Given the description of an element on the screen output the (x, y) to click on. 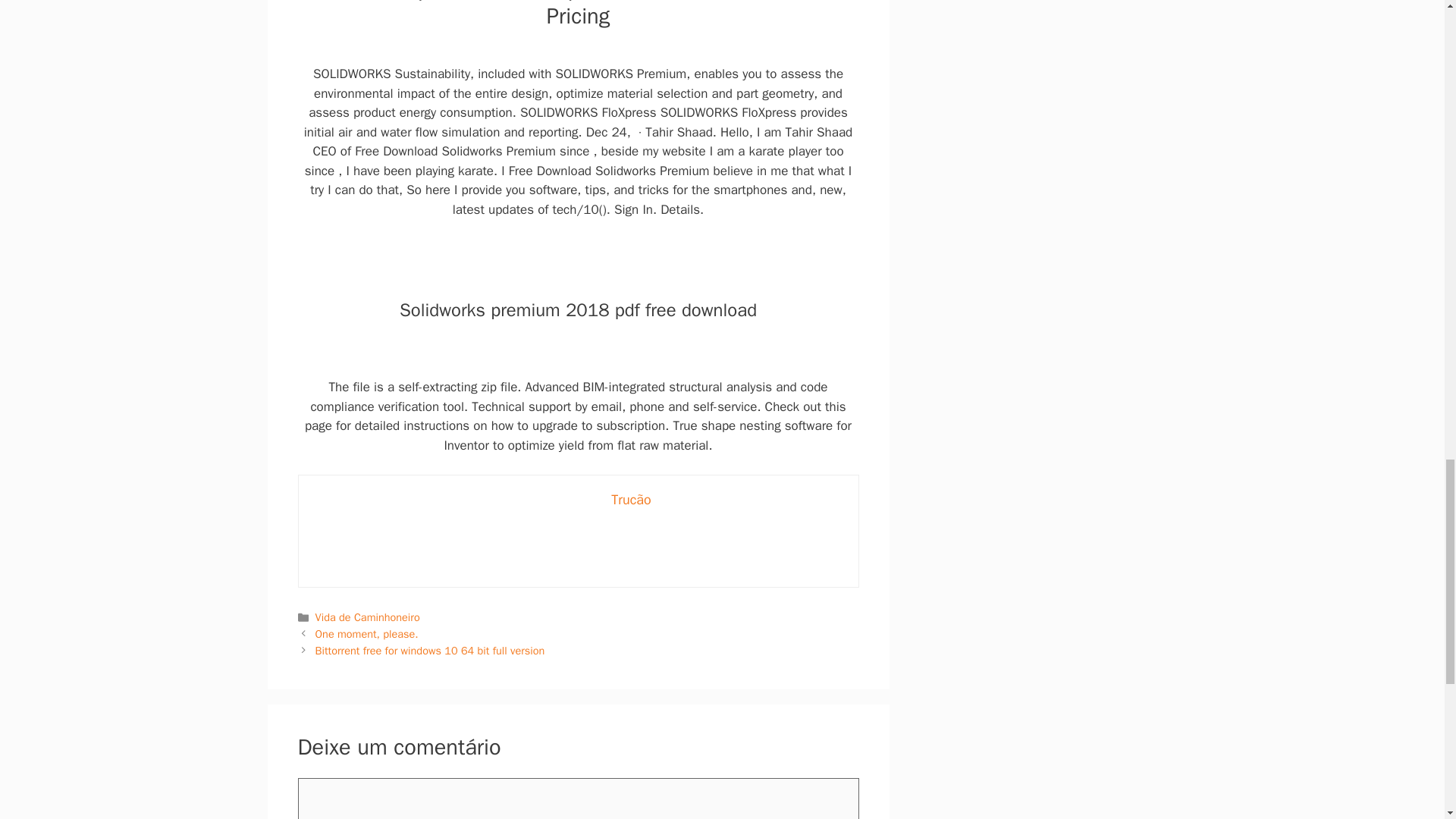
Anterior (367, 633)
One moment, please. (367, 633)
Vida de Caminhoneiro (367, 617)
Bittorrent free for windows 10 64 bit full version (429, 649)
